Given the description of an element on the screen output the (x, y) to click on. 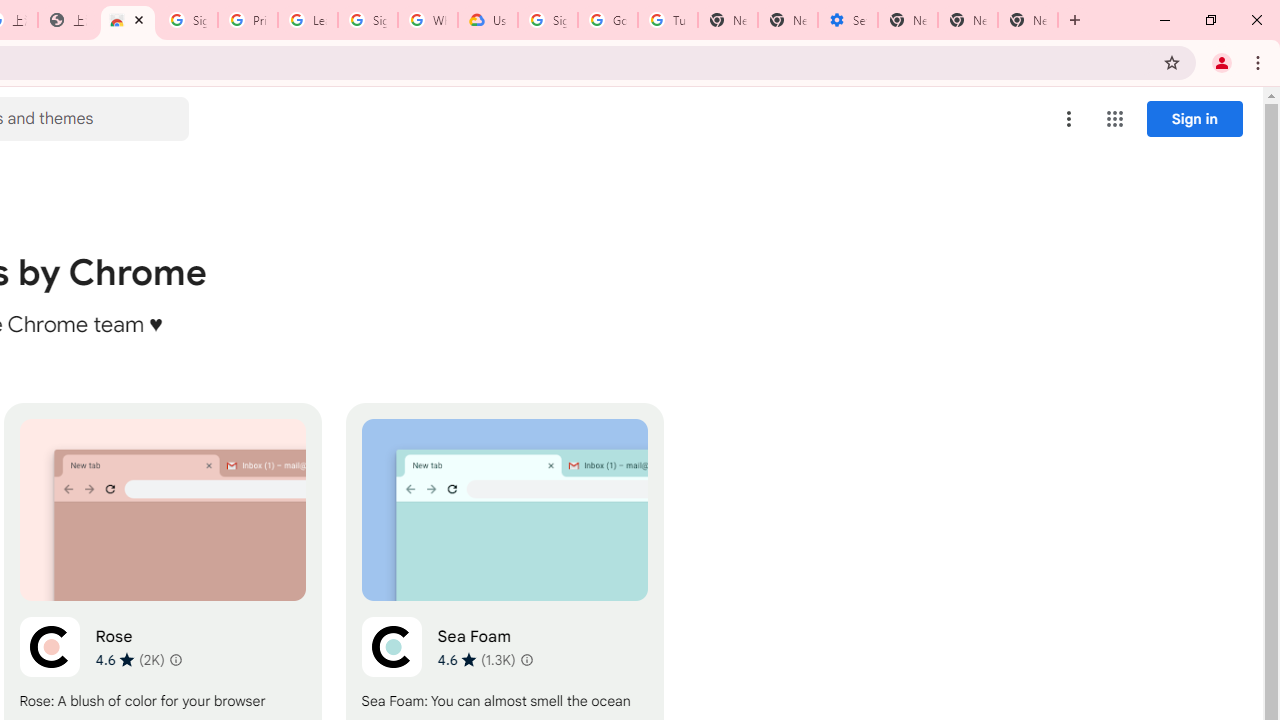
Learn more about results and reviews "Sea Foam" (526, 659)
More options menu (1069, 118)
Sign in - Google Accounts (187, 20)
Sign in - Google Accounts (548, 20)
Average rating 4.6 out of 5 stars. 1.3K ratings. (475, 659)
New Tab (1028, 20)
Average rating 4.6 out of 5 stars. 2K ratings. (129, 659)
Chrome Web Store - Color themes by Chrome (127, 20)
